Given the description of an element on the screen output the (x, y) to click on. 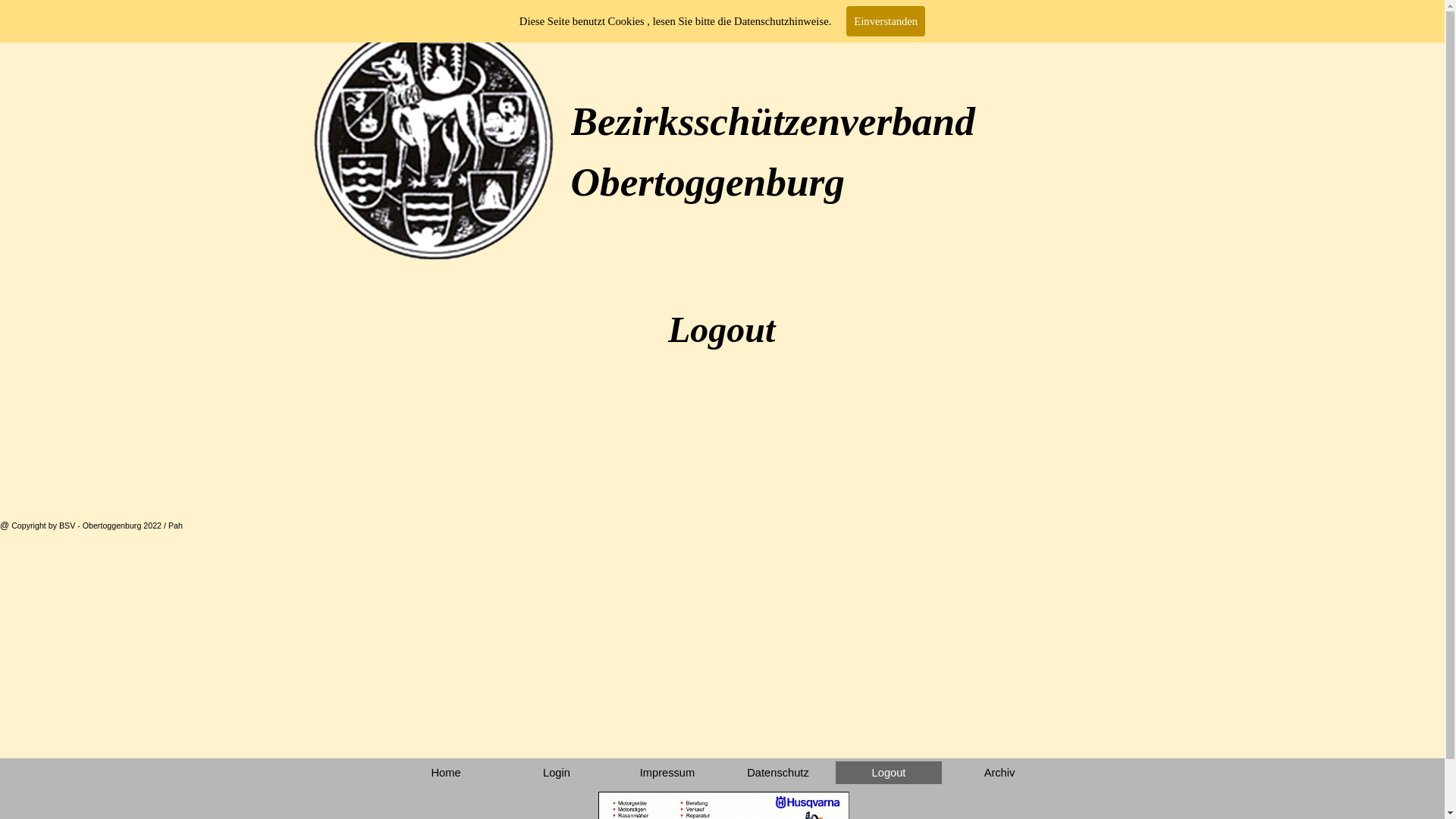
Logout Element type: text (888, 772)
Login Element type: text (556, 772)
Impressum Element type: text (667, 772)
Obertoggenburg Element type: text (707, 181)
Datenschutzhinweise Element type: text (781, 21)
Home Element type: text (445, 772)
Datenschutz Element type: text (777, 772)
